Given the description of an element on the screen output the (x, y) to click on. 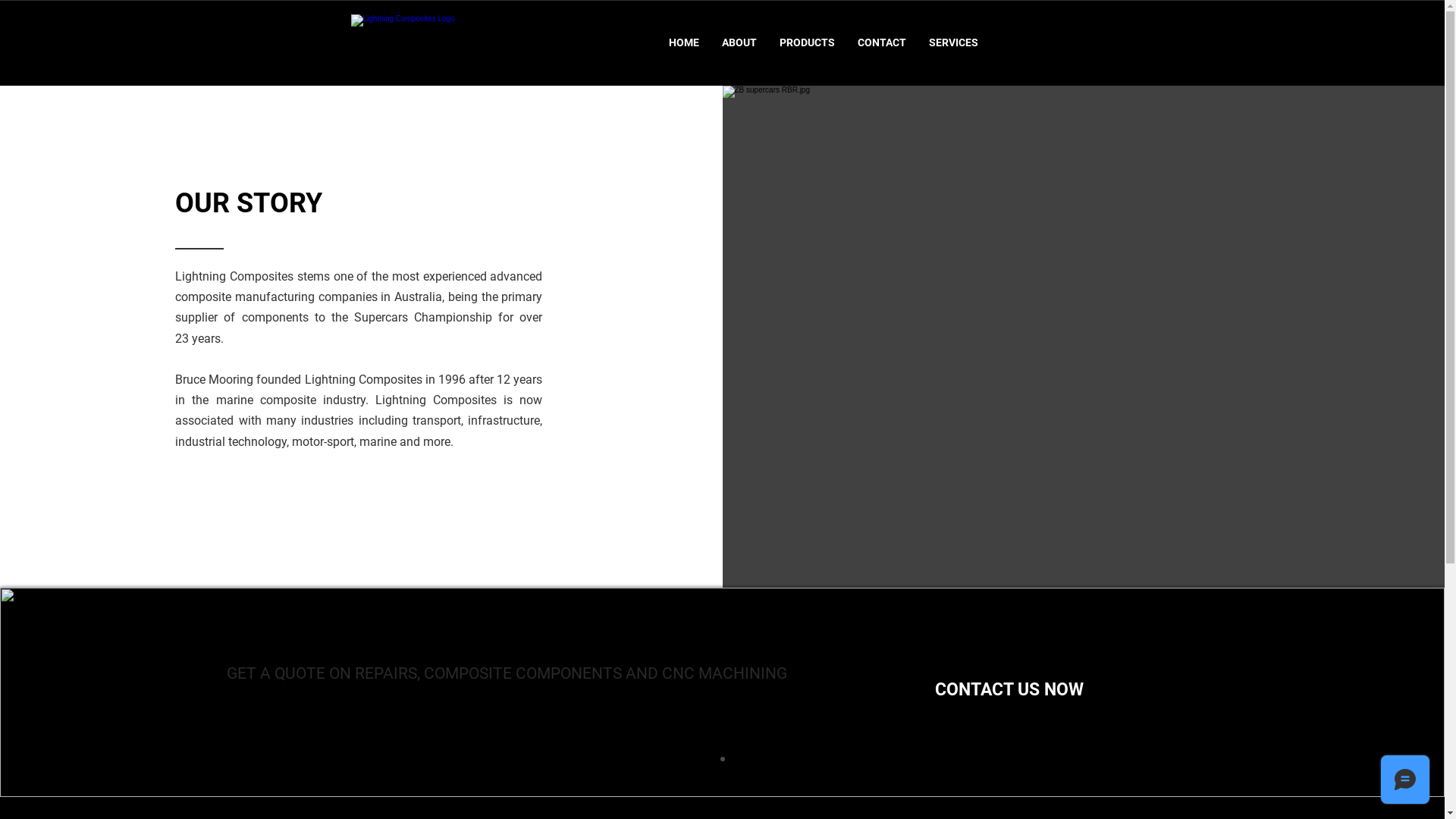
ABOUT Element type: text (739, 42)
CONTACT Element type: text (881, 42)
PRODUCTS Element type: text (807, 42)
CONTACT US NOW Element type: text (1008, 690)
Lightning Composites Logo Element type: hover (444, 42)
HOME Element type: text (683, 42)
SERVICES Element type: text (953, 42)
